Given the description of an element on the screen output the (x, y) to click on. 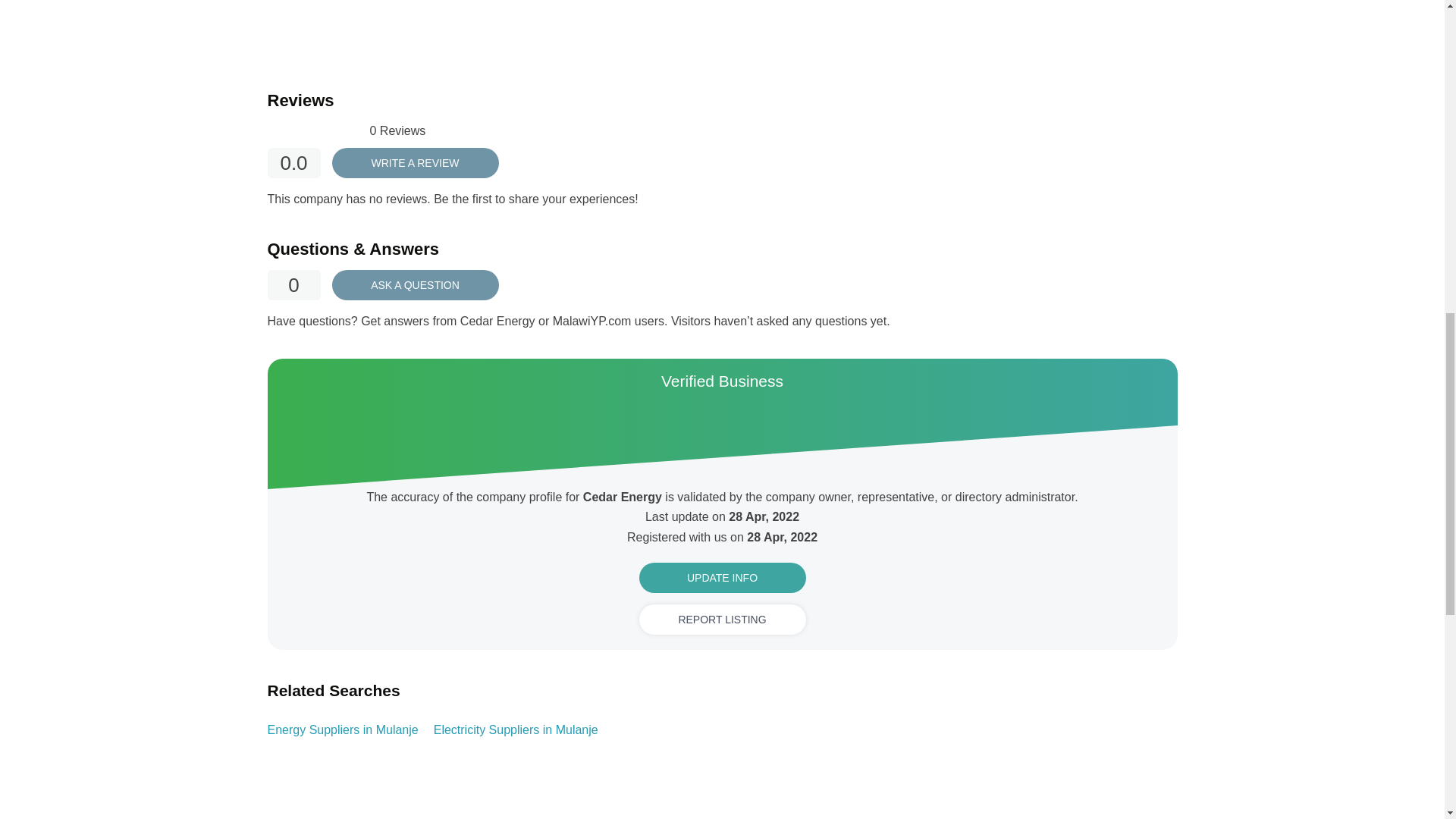
WRITE A REVIEW (415, 163)
Energy Suppliers in Mulanje (341, 729)
Electricity Suppliers in Mulanje (515, 729)
Update Info Cedar Energy (722, 577)
REPORT LISTING (722, 619)
UPDATE INFO (722, 577)
Advertisement (1062, 17)
ASK A QUESTION (415, 285)
